Given the description of an element on the screen output the (x, y) to click on. 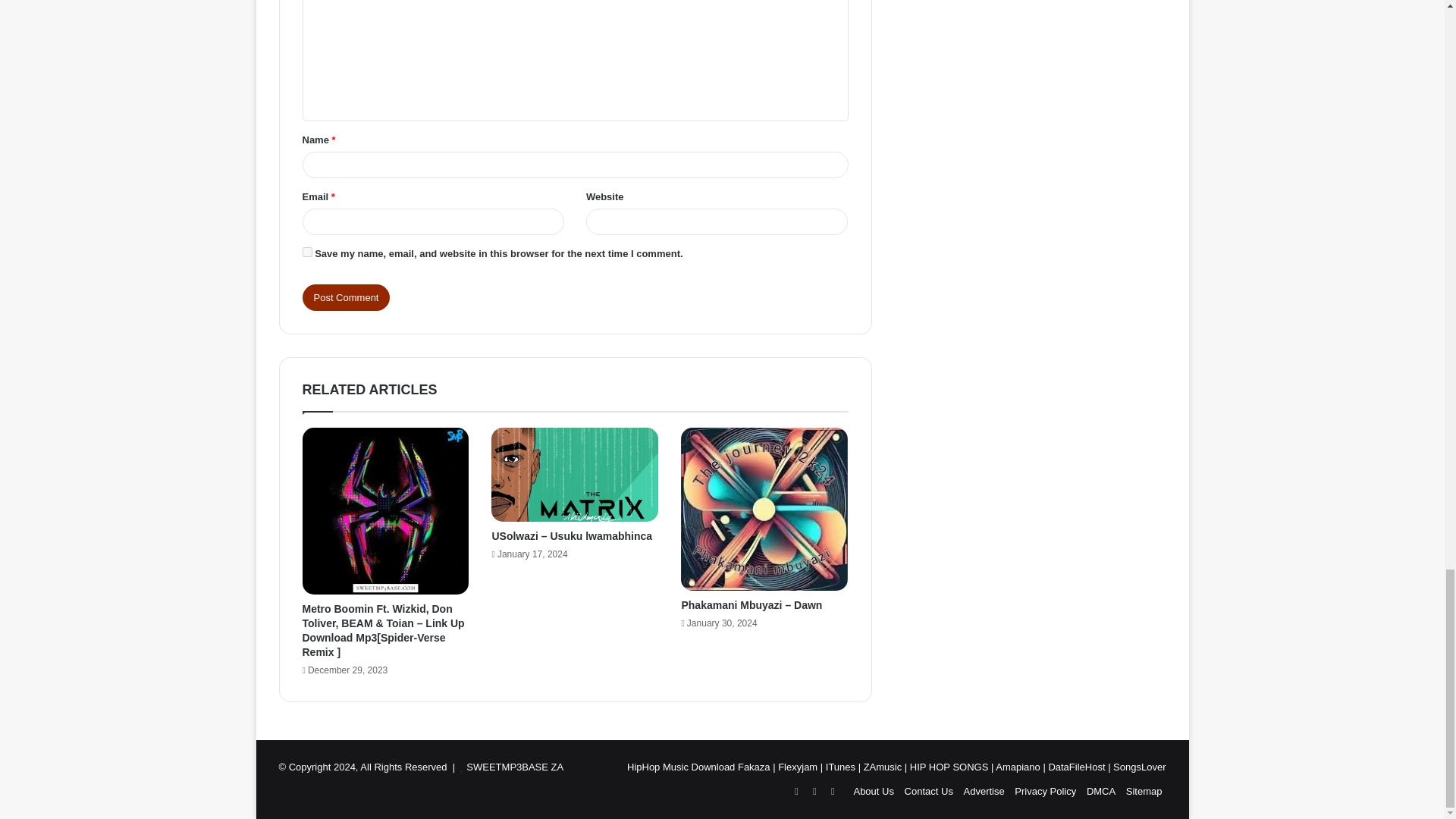
Post Comment (345, 297)
yes (306, 252)
